Given the description of an element on the screen output the (x, y) to click on. 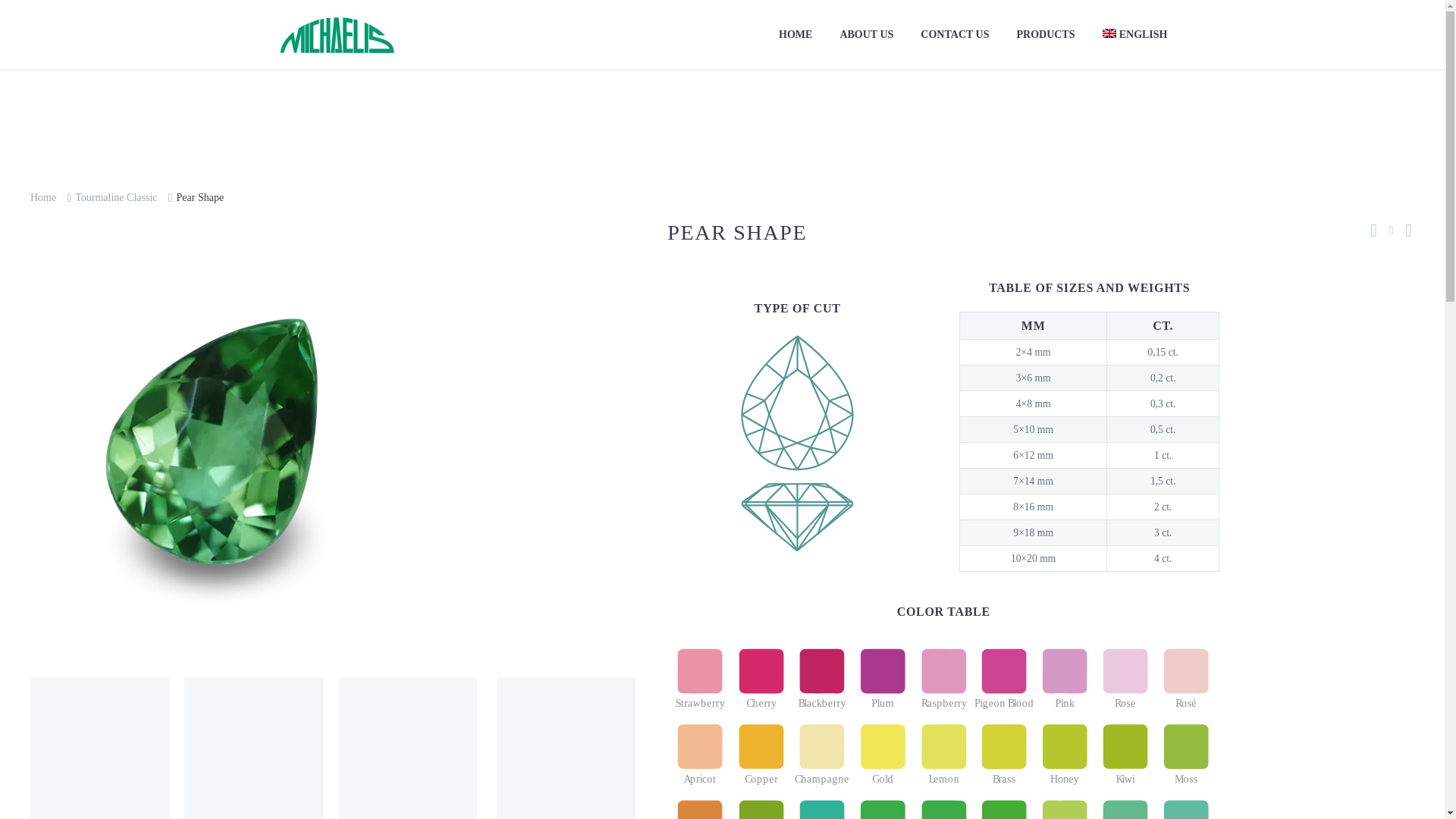
Tourmaline Classic (116, 197)
Home (43, 197)
PRODUCTS (1045, 34)
English (1133, 34)
ABOUT US (866, 34)
HOME (795, 34)
CONTACT US (954, 34)
ENGLISH (1133, 34)
